Given the description of an element on the screen output the (x, y) to click on. 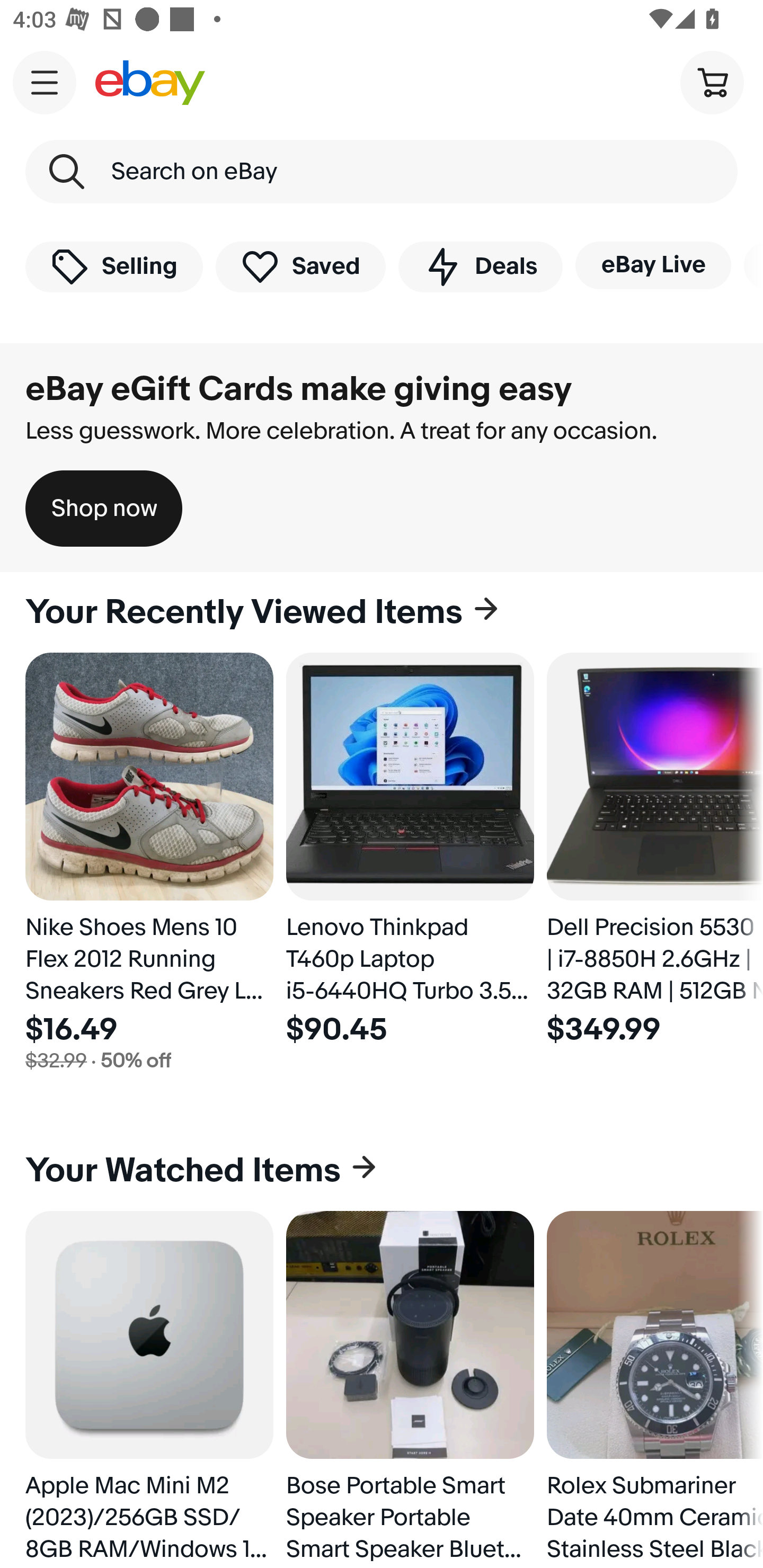
Main navigation, open (44, 82)
Cart button shopping cart (711, 81)
Search on eBay Search Keyword Search on eBay (381, 171)
Selling (113, 266)
Saved (300, 266)
Deals (480, 266)
eBay Live (652, 264)
eBay eGift Cards make giving easy (298, 389)
Shop now (103, 508)
Your Recently Viewed Items   (381, 612)
Your Watched Items   (381, 1170)
